Given the description of an element on the screen output the (x, y) to click on. 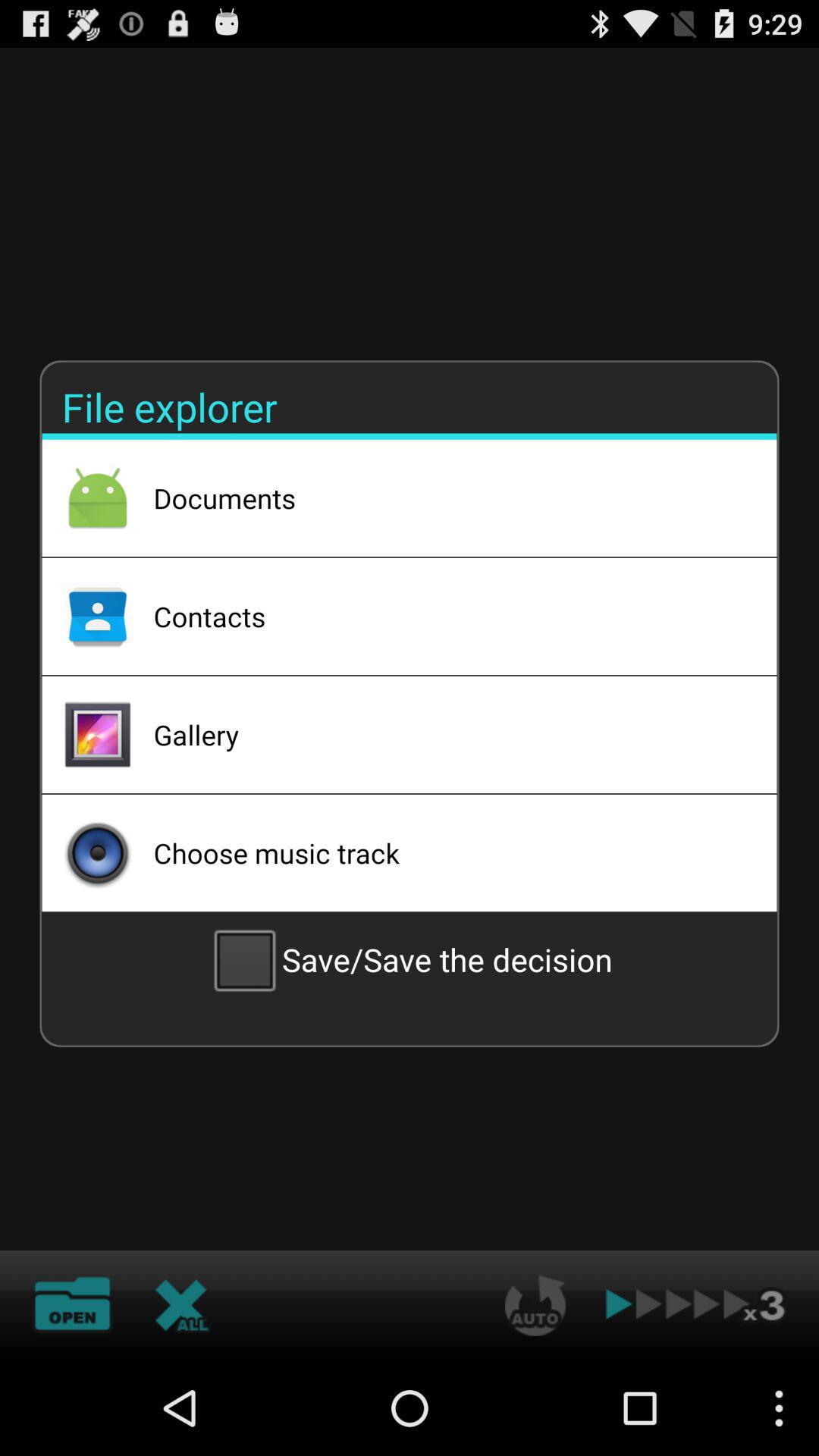
jump to the contacts app (445, 616)
